Given the description of an element on the screen output the (x, y) to click on. 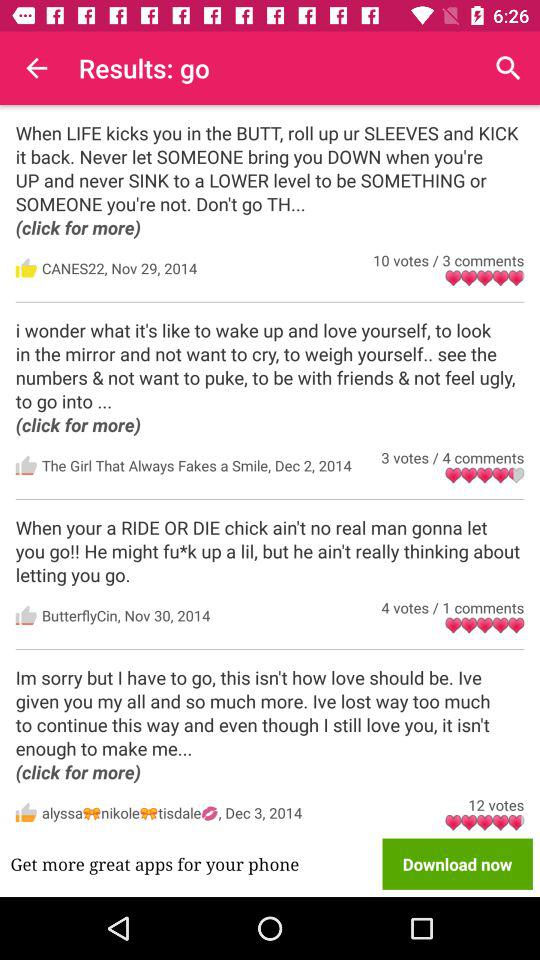
turn on icon next to the results: go icon (36, 68)
